Given the description of an element on the screen output the (x, y) to click on. 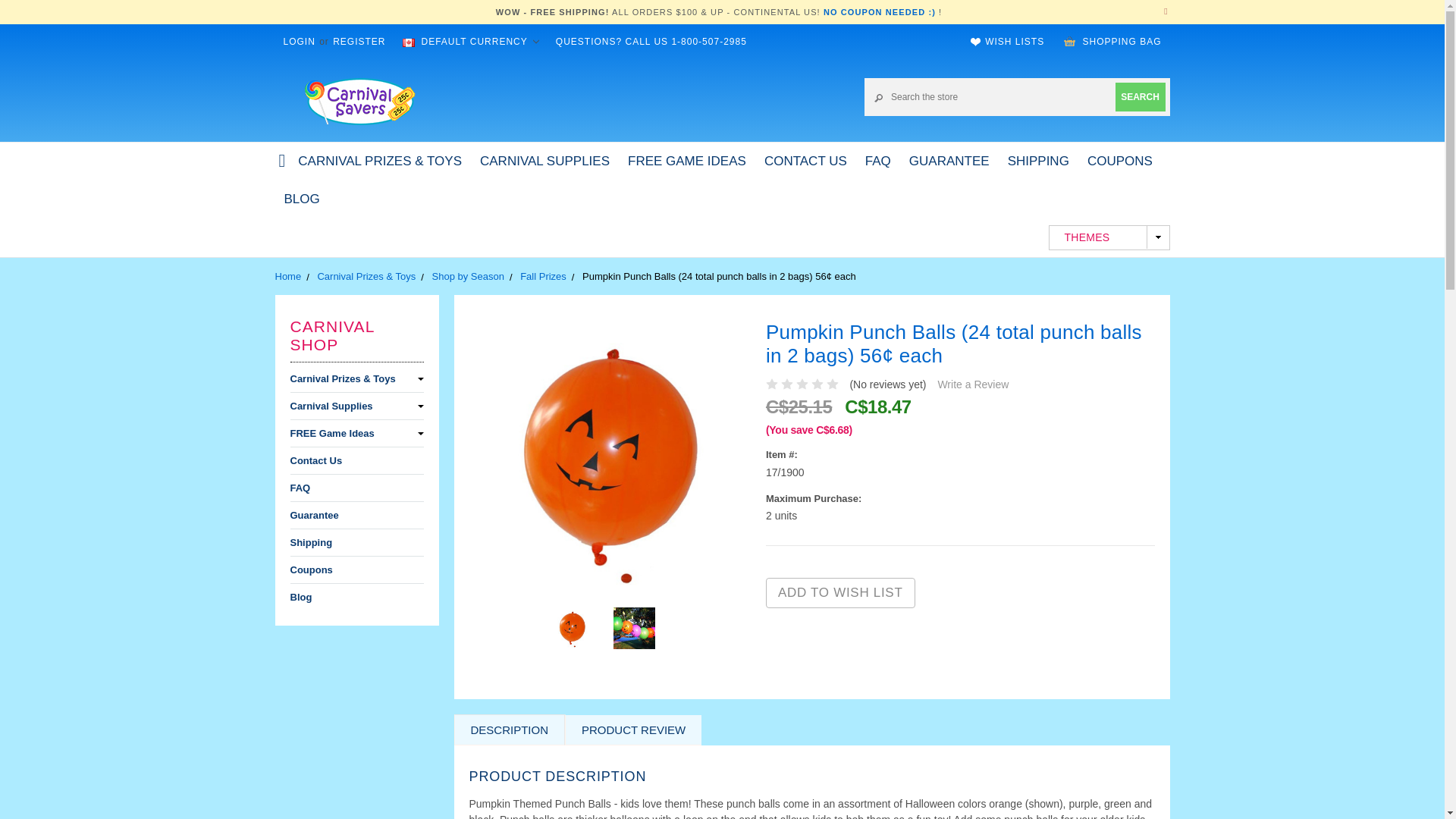
Carnival Savers (360, 100)
View Cart (1068, 41)
Pumpkin Punch Balls - Fall Festival Prize (633, 628)
Pumpkin Punch Ball Toys (606, 458)
Search (1139, 95)
Pumpkin Punch Ball Toys (571, 628)
Add to Wish list (840, 593)
Search (1139, 95)
